Given the description of an element on the screen output the (x, y) to click on. 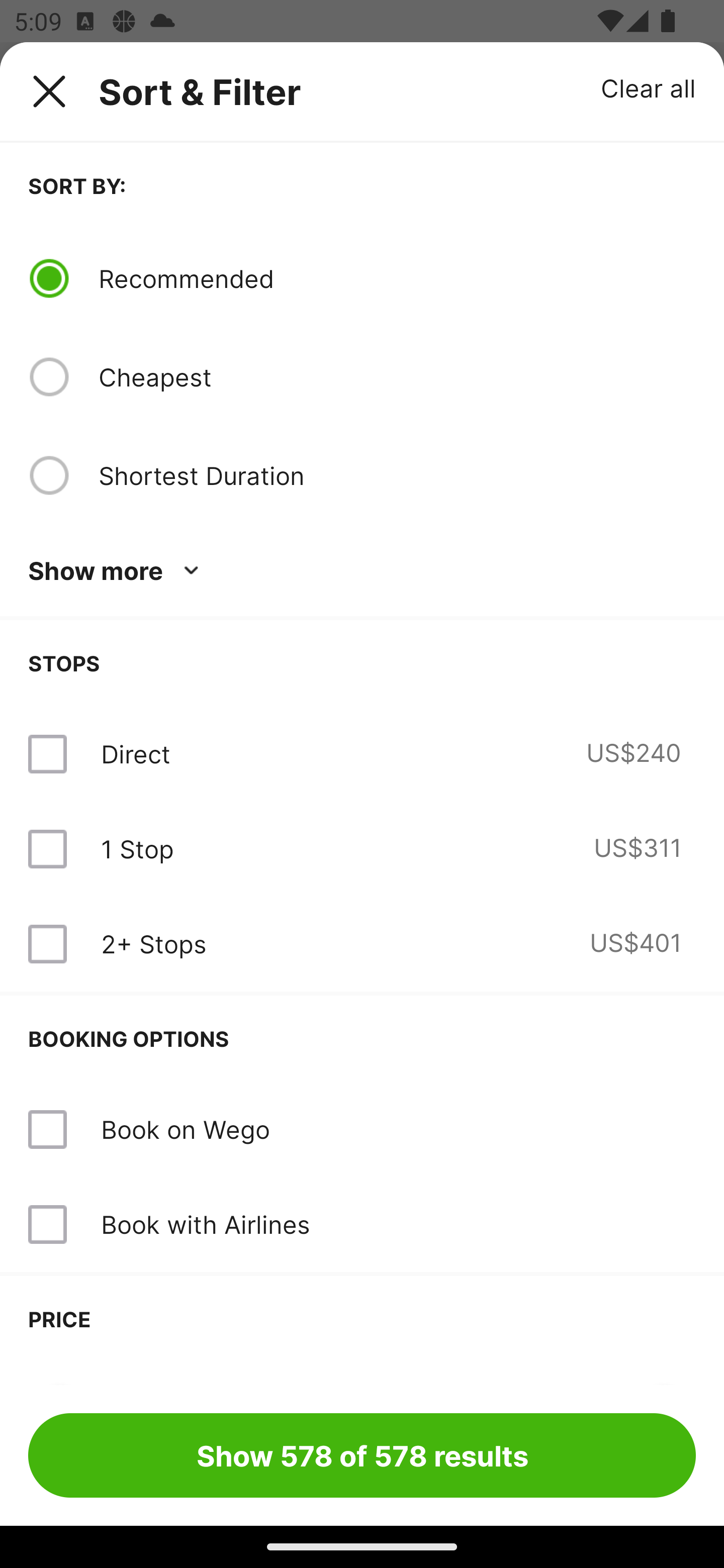
Clear all (648, 87)
Recommended  (396, 278)
Cheapest (396, 377)
Shortest Duration (396, 474)
Show more (116, 570)
Direct US$240 (362, 754)
Direct (135, 753)
1 Stop US$311 (362, 848)
1 Stop (136, 849)
2+ Stops US$401 (362, 943)
2+ Stops (153, 943)
Book on Wego (362, 1129)
Book on Wego (184, 1128)
Book with Airlines (362, 1224)
Book with Airlines (204, 1224)
Show 578 of 578 results (361, 1454)
